Given the description of an element on the screen output the (x, y) to click on. 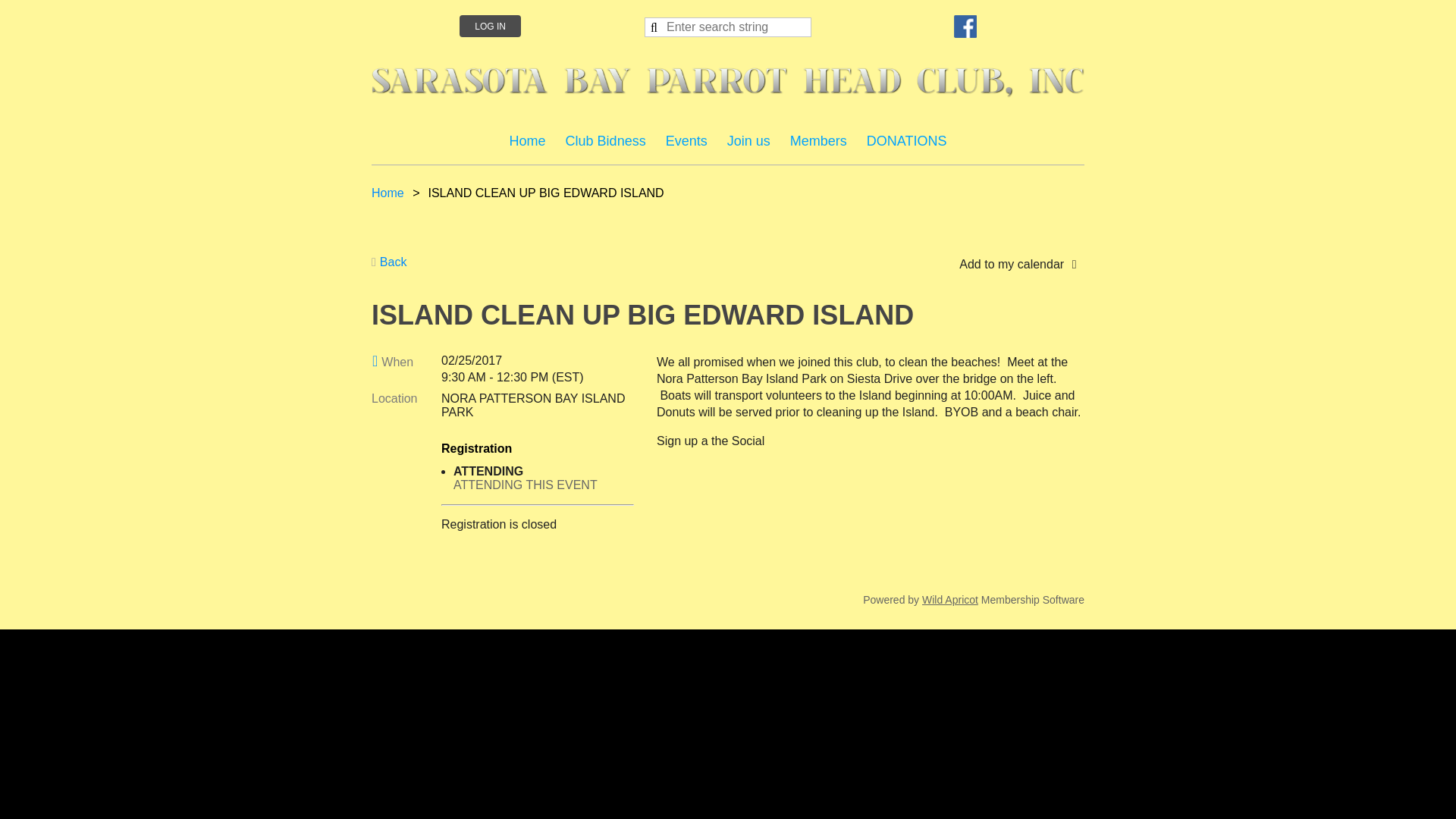
Events (686, 140)
SARASOTA BAY PARROT HEAD CLUB, INC (727, 82)
Home (527, 140)
Facebook (964, 26)
Club Bidness (606, 140)
Members (818, 140)
DONATIONS (906, 140)
Club Bidness (606, 140)
Wild Apricot (949, 599)
Members (818, 140)
